Given the description of an element on the screen output the (x, y) to click on. 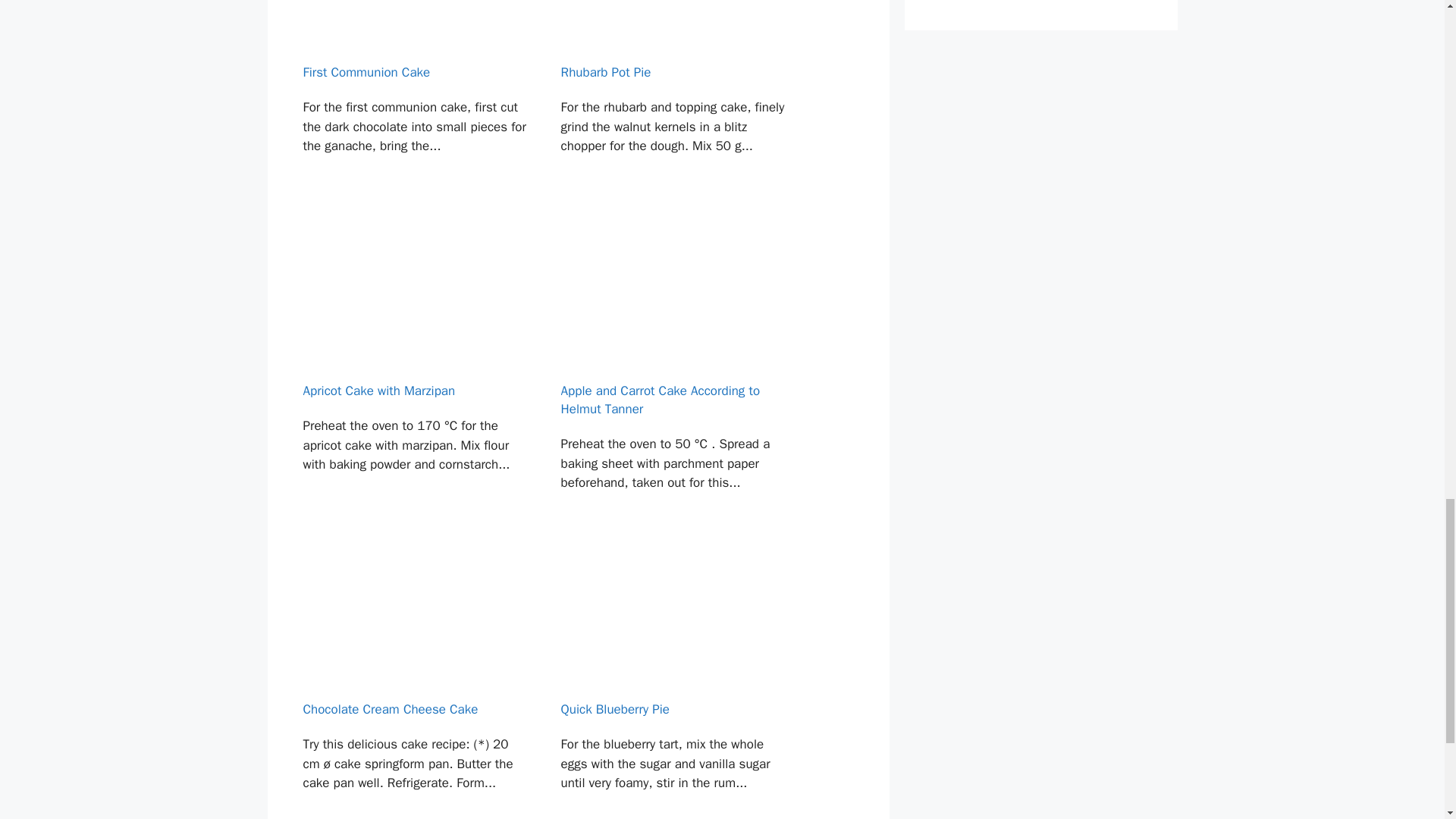
First Communion Cake (414, 104)
Rhubarb Pot Pie (673, 104)
